Given the description of an element on the screen output the (x, y) to click on. 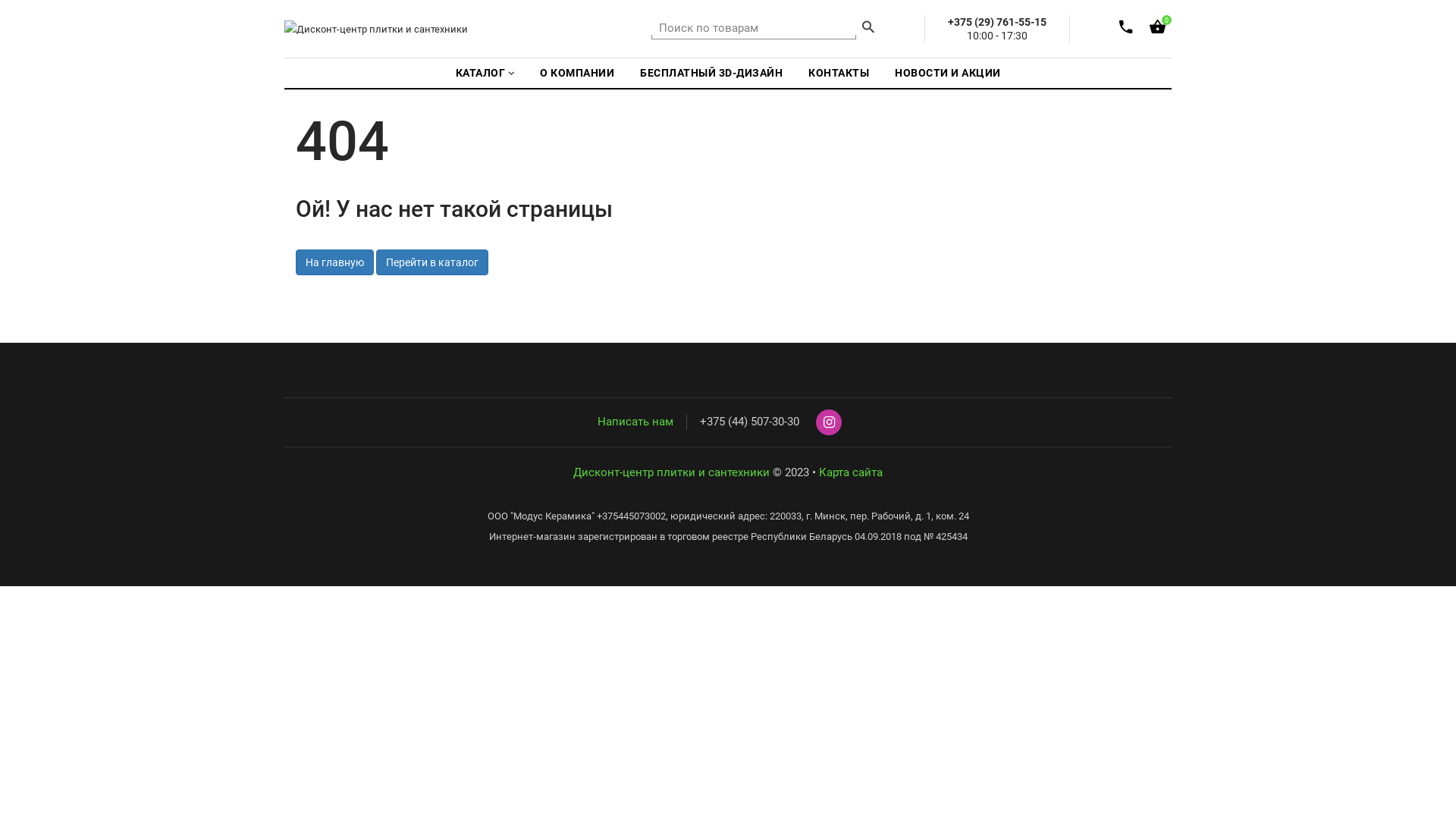
+375 (44) 507-30-30 Element type: text (749, 421)
0 Element type: text (1157, 29)
